Given the description of an element on the screen output the (x, y) to click on. 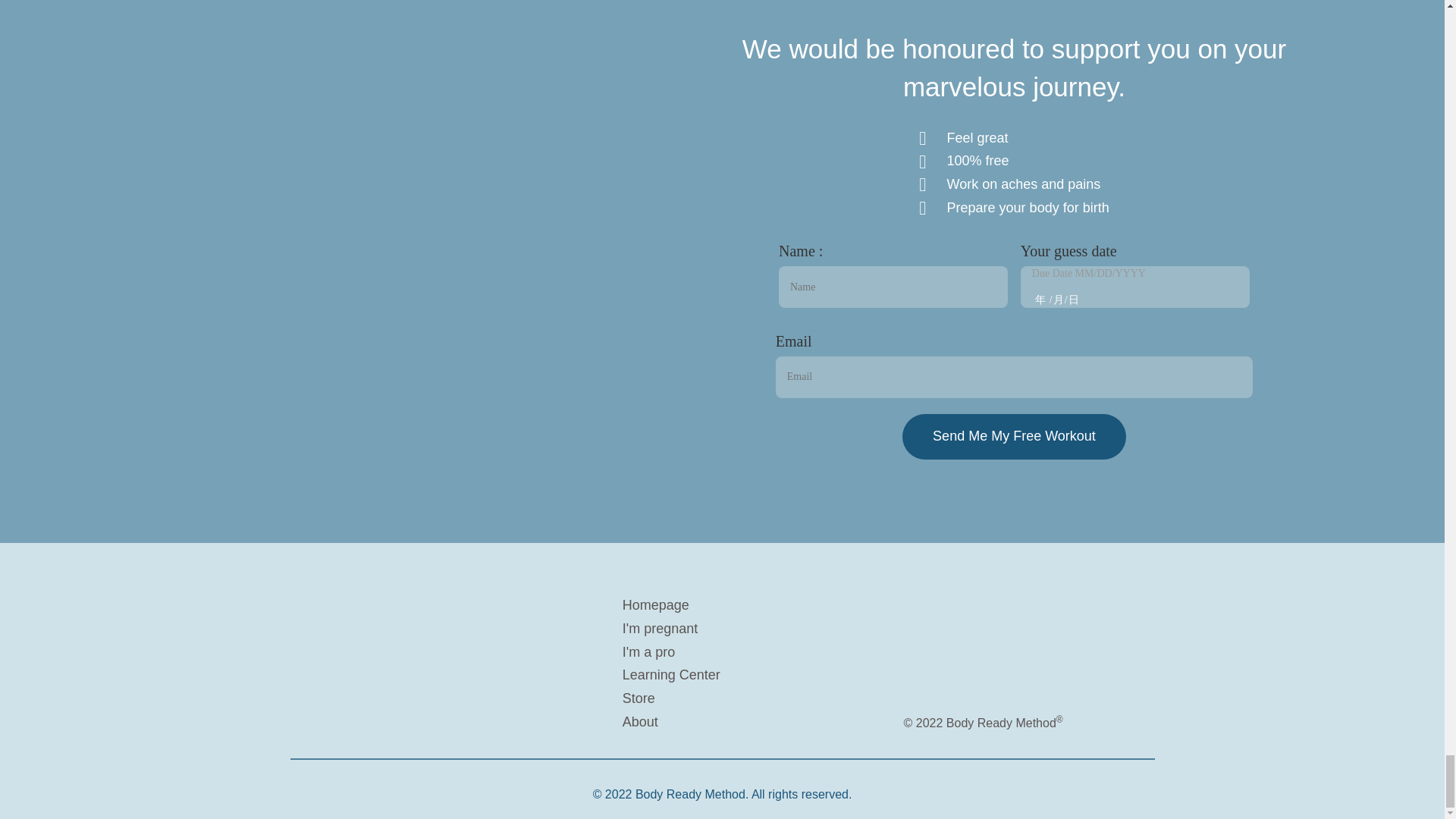
Send Me My Free Workout (1013, 436)
Homepage (754, 605)
I'm pregnant (754, 629)
Send Me My Free Workout (1013, 436)
